Given the description of an element on the screen output the (x, y) to click on. 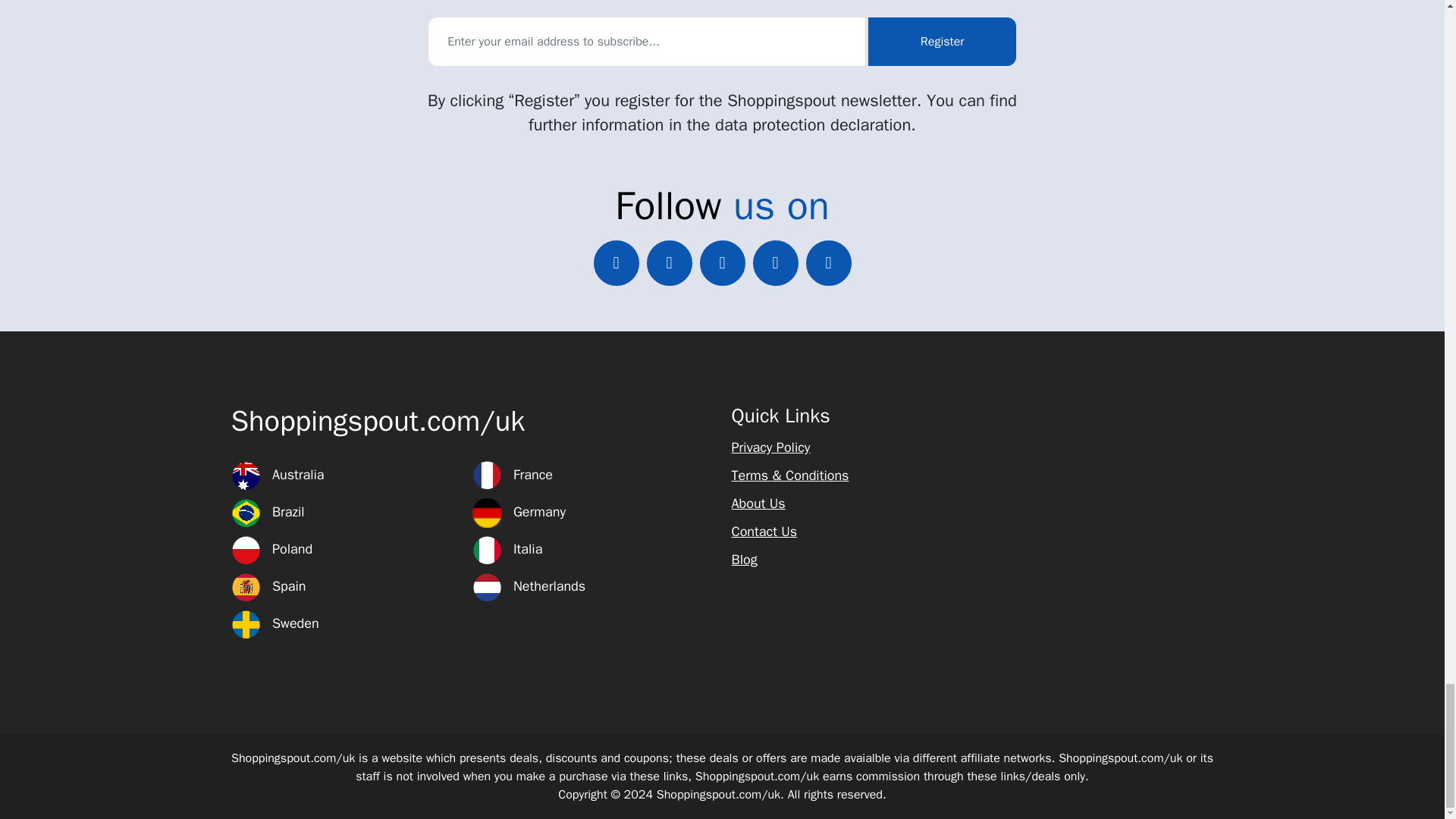
instagram (827, 262)
linkedin (721, 262)
twitter (615, 262)
pinterest (774, 262)
facebook (668, 262)
Customer reviews powered by Trustpilot (1096, 416)
